Given the description of an element on the screen output the (x, y) to click on. 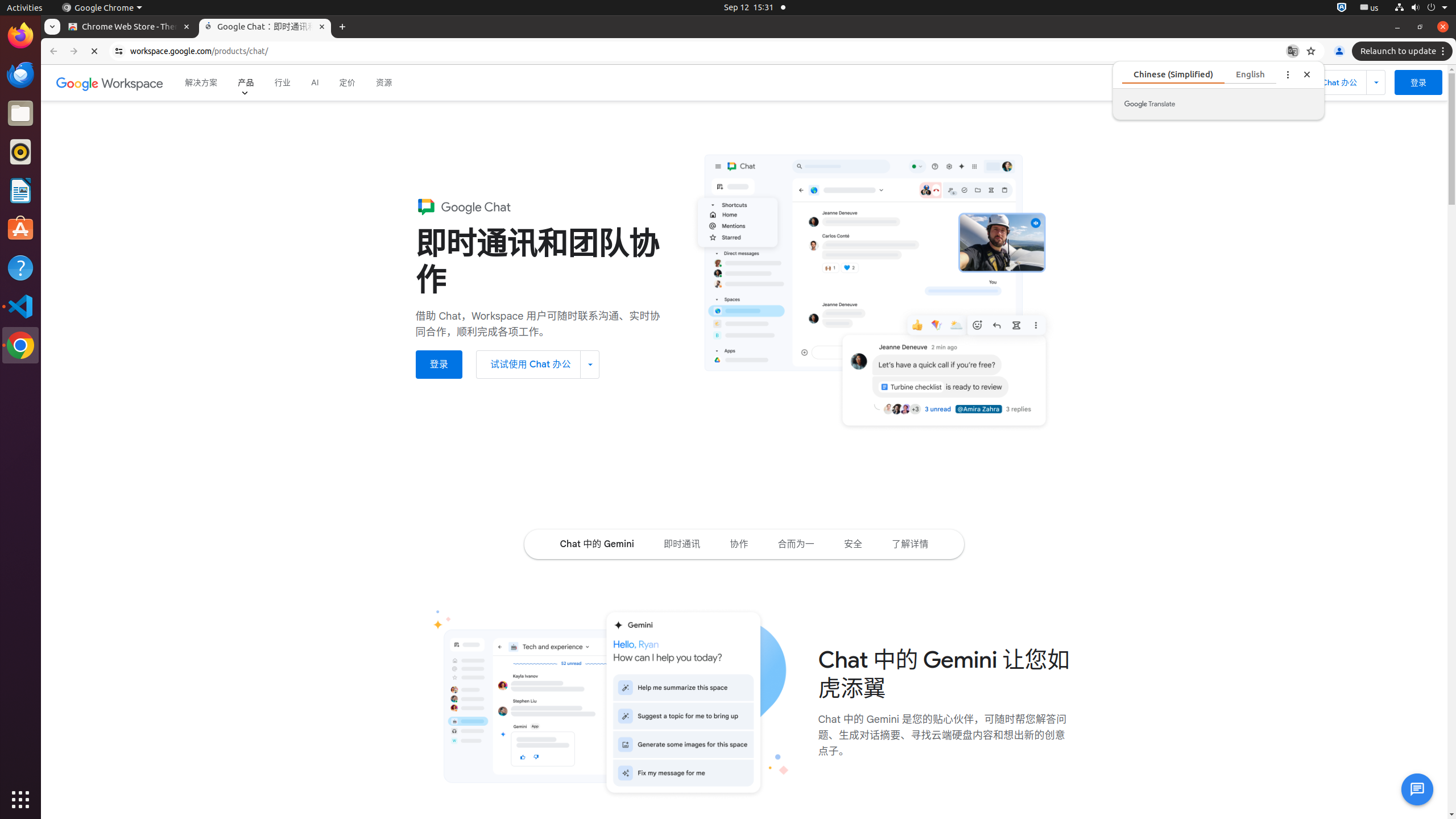
Relaunch to update Element type: push-button (1403, 50)
资源 Element type: push-button (383, 82)
跳至本页面的“协作”部分 Element type: link (738, 543)
Chinese (Simplified) Element type: page-tab-list (1199, 74)
Firefox Web Browser Element type: push-button (20, 35)
